Given the description of an element on the screen output the (x, y) to click on. 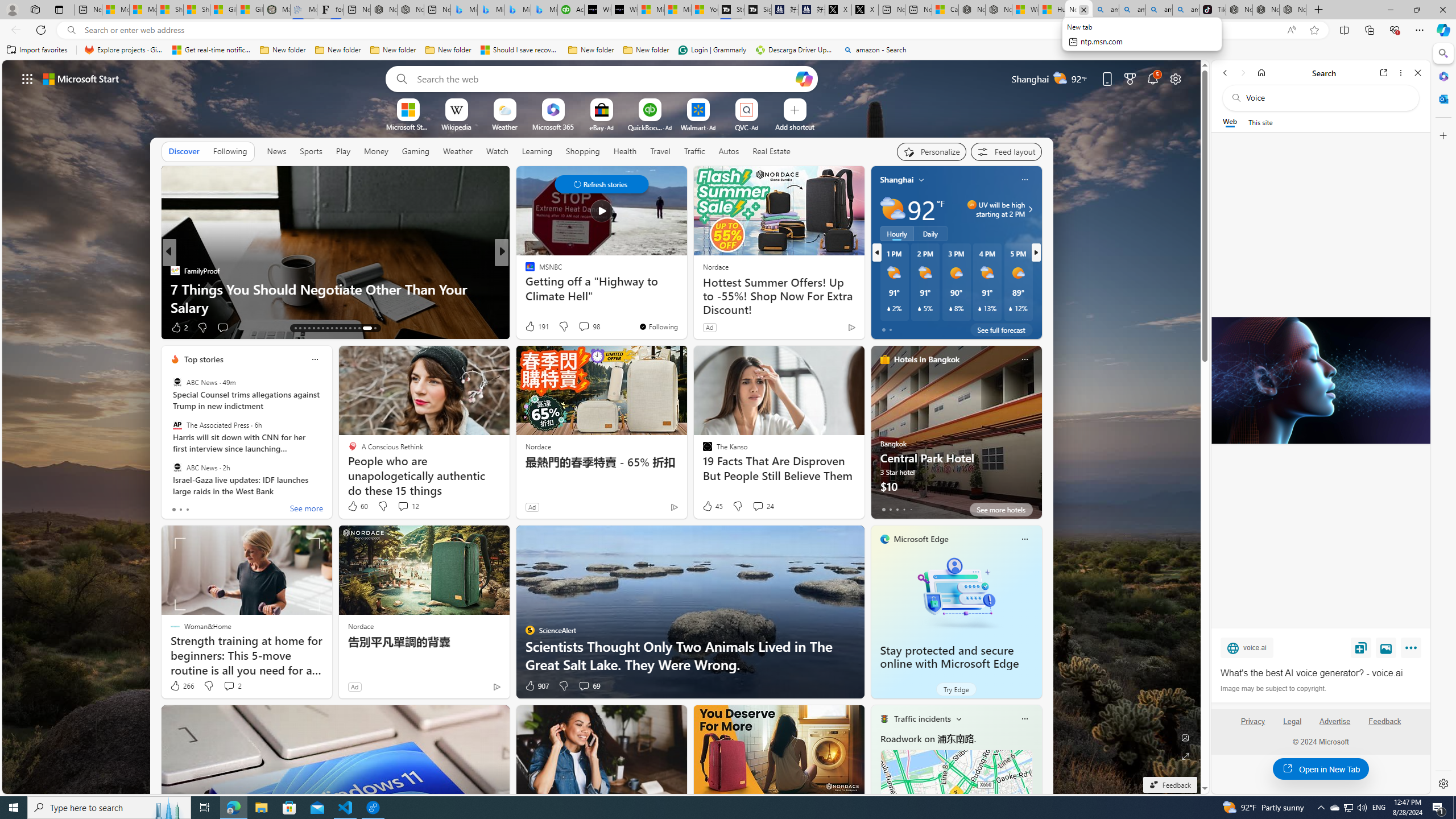
View comments 2 Comment (232, 685)
191 Like (536, 326)
View comments 56 Comment (585, 327)
The Associated Press (176, 424)
Privacy (1252, 721)
hotels-header-icon (884, 358)
Open link in new tab (1383, 72)
Traffic (694, 151)
AutomationID: tab-29 (374, 328)
